Given the description of an element on the screen output the (x, y) to click on. 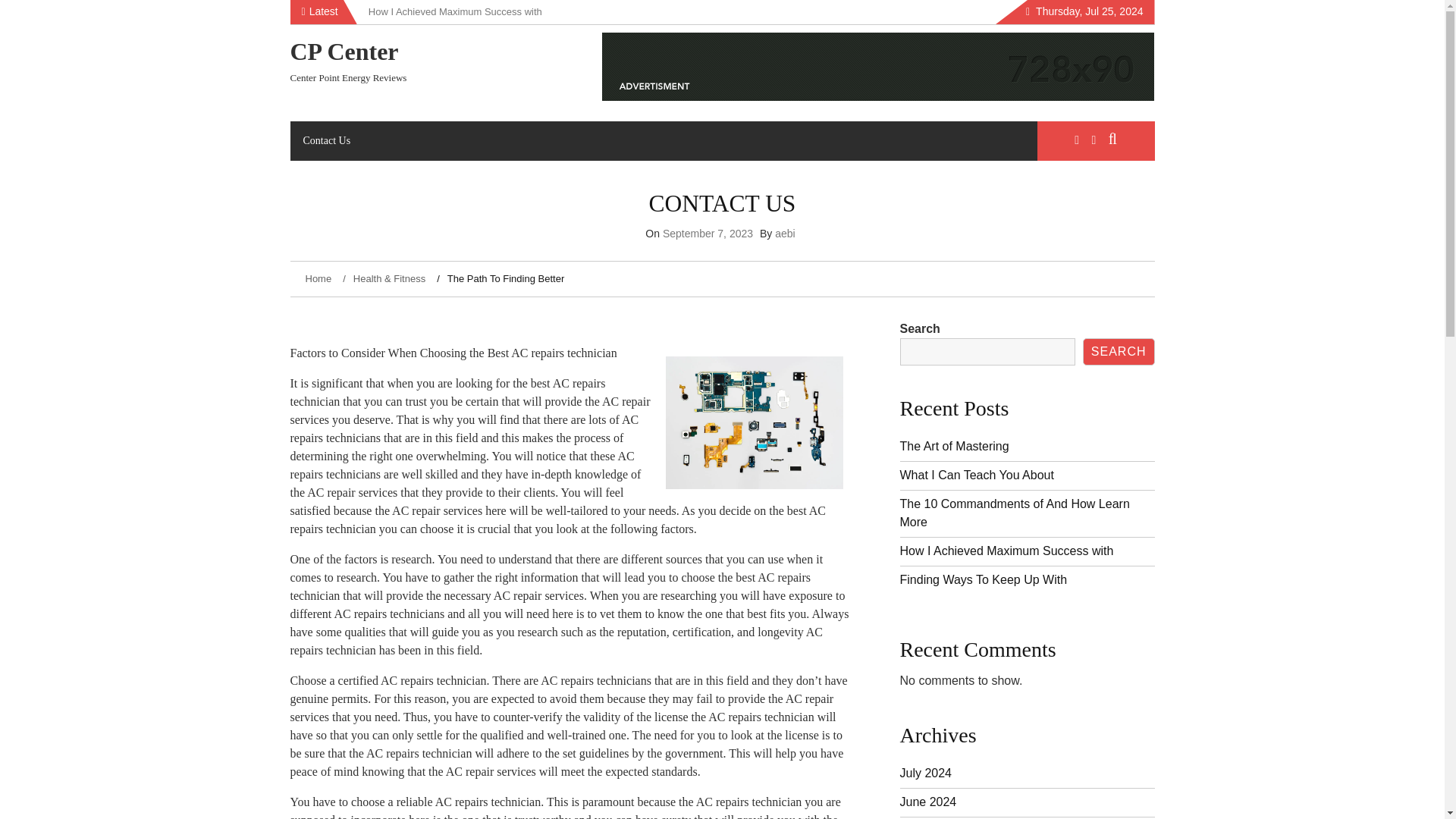
CP Center (343, 51)
June 2024 (927, 801)
What I Can Teach You About (975, 474)
Finding Ways To Keep Up With (983, 579)
The 10 Commandments of And How Learn More (1014, 512)
The Art of Mastering (954, 445)
How I Achieved Maximum Success with (1006, 550)
SEARCH (1118, 351)
Contact Us (325, 140)
How I Achieved Maximum Success with (454, 11)
July 2024 (925, 772)
September 7, 2023 (707, 233)
aebi (784, 233)
Home (319, 278)
